Given the description of an element on the screen output the (x, y) to click on. 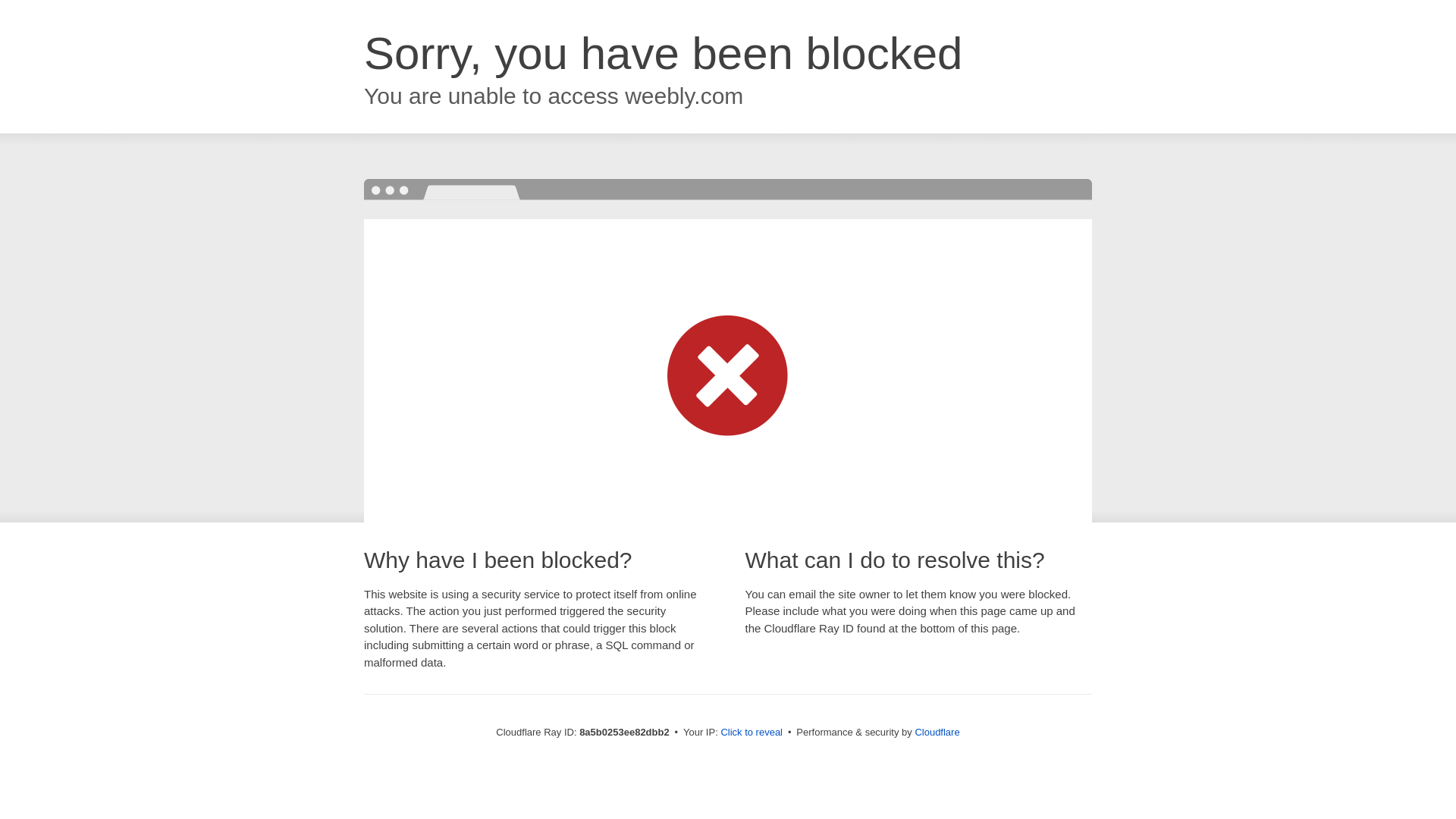
Cloudflare (936, 731)
Click to reveal (751, 732)
